Given the description of an element on the screen output the (x, y) to click on. 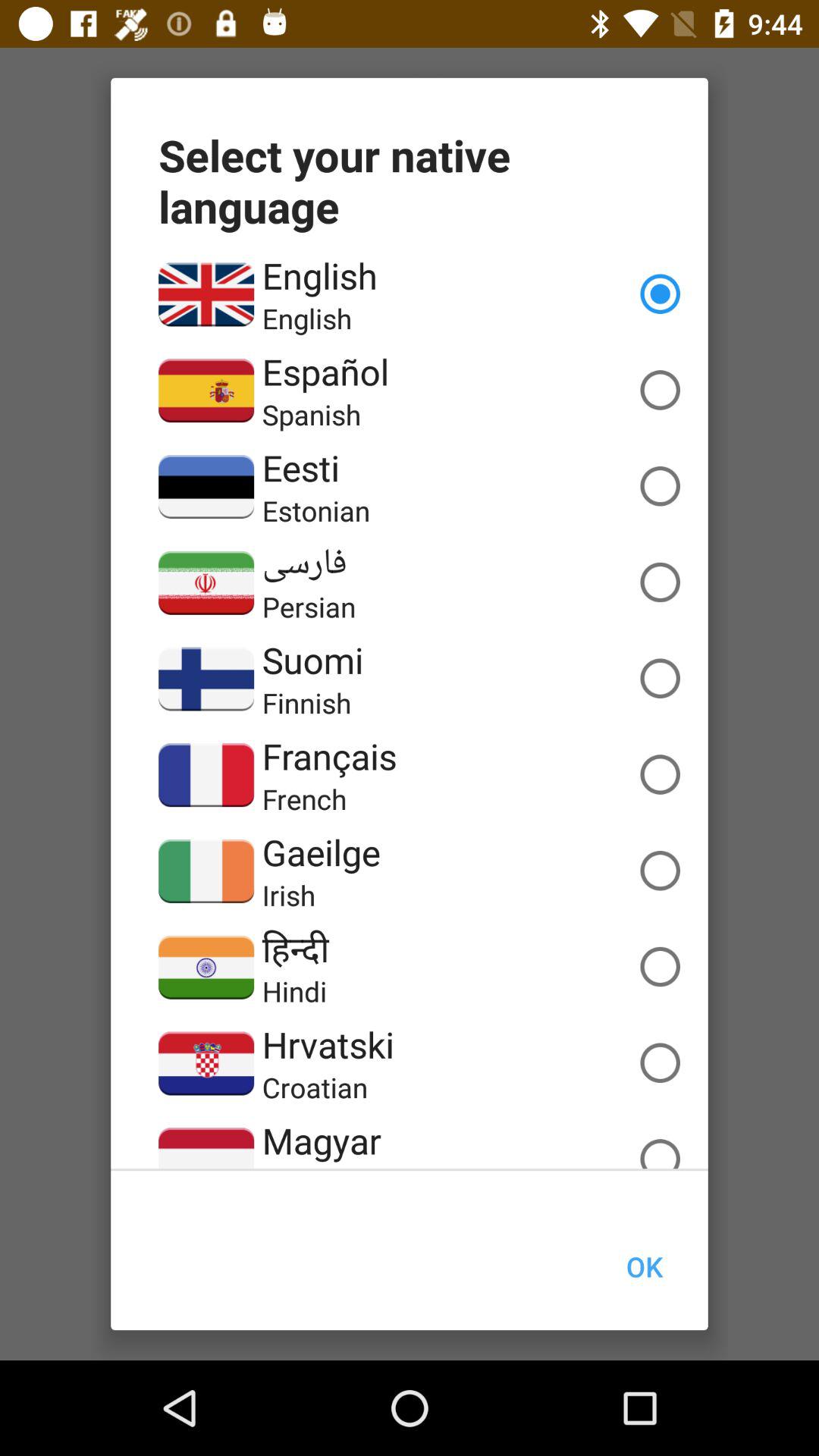
launch icon above the persian (304, 563)
